Given the description of an element on the screen output the (x, y) to click on. 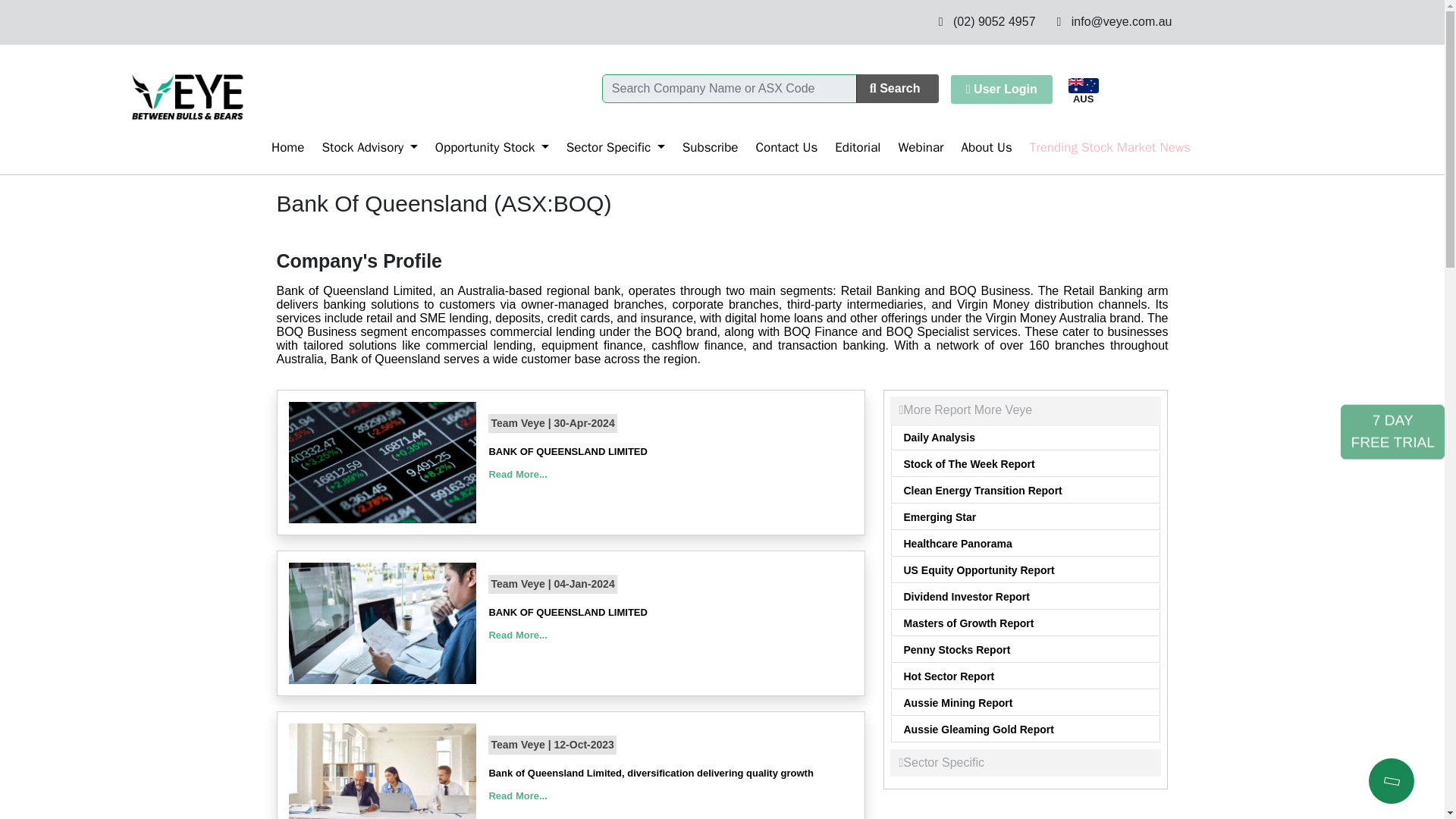
Stock Advisory (360, 147)
User Login (1001, 89)
Search (897, 88)
Home (278, 147)
Sector Specific (606, 147)
Opportunity Stock (482, 147)
AUS (1083, 90)
User Login (995, 88)
